Given the description of an element on the screen output the (x, y) to click on. 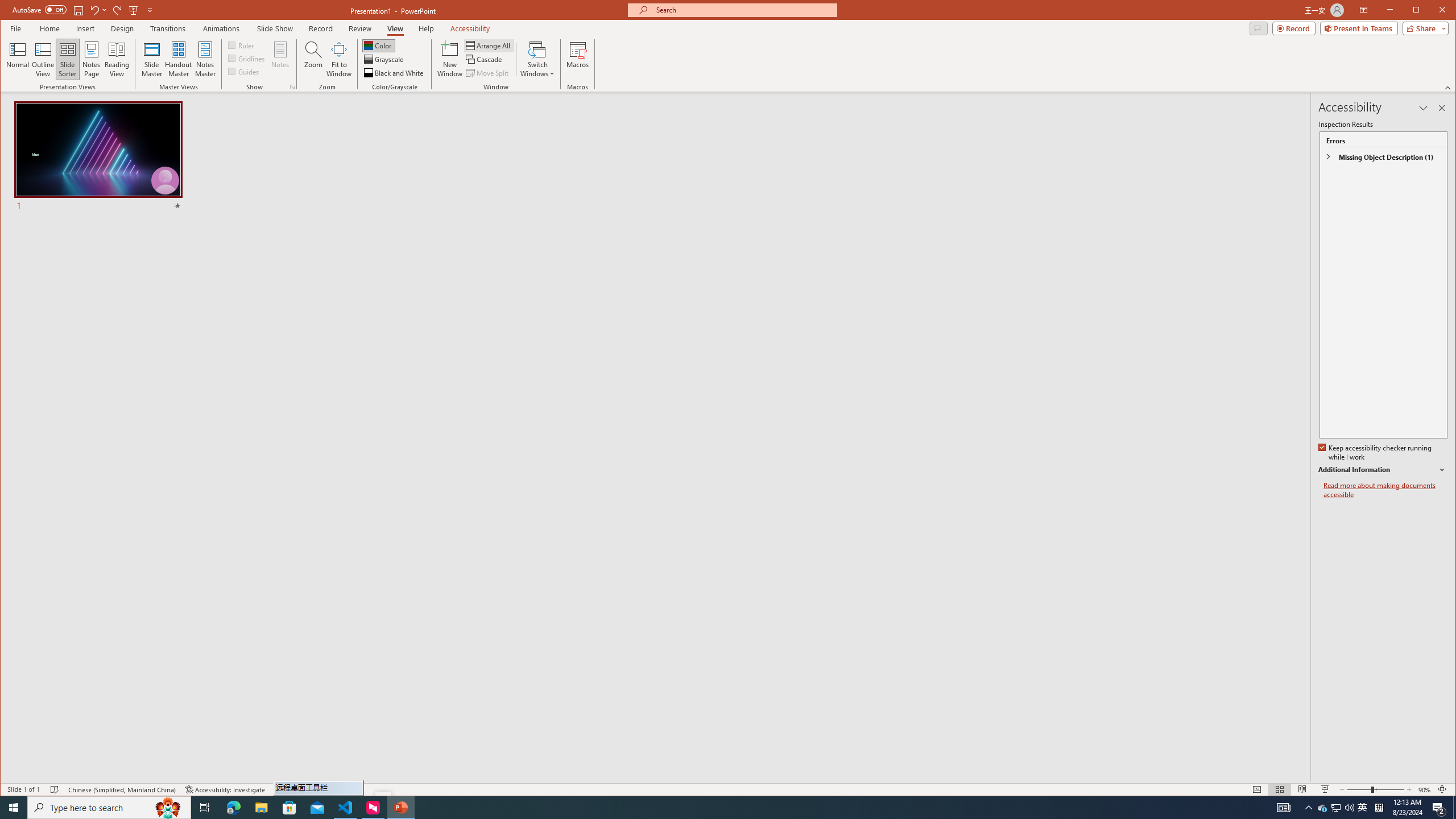
New Window (450, 59)
Switch Windows (537, 59)
Microsoft Edge (233, 807)
Fit to Window (338, 59)
Move Split (488, 72)
Color (1322, 807)
Ruler (378, 45)
